Given the description of an element on the screen output the (x, y) to click on. 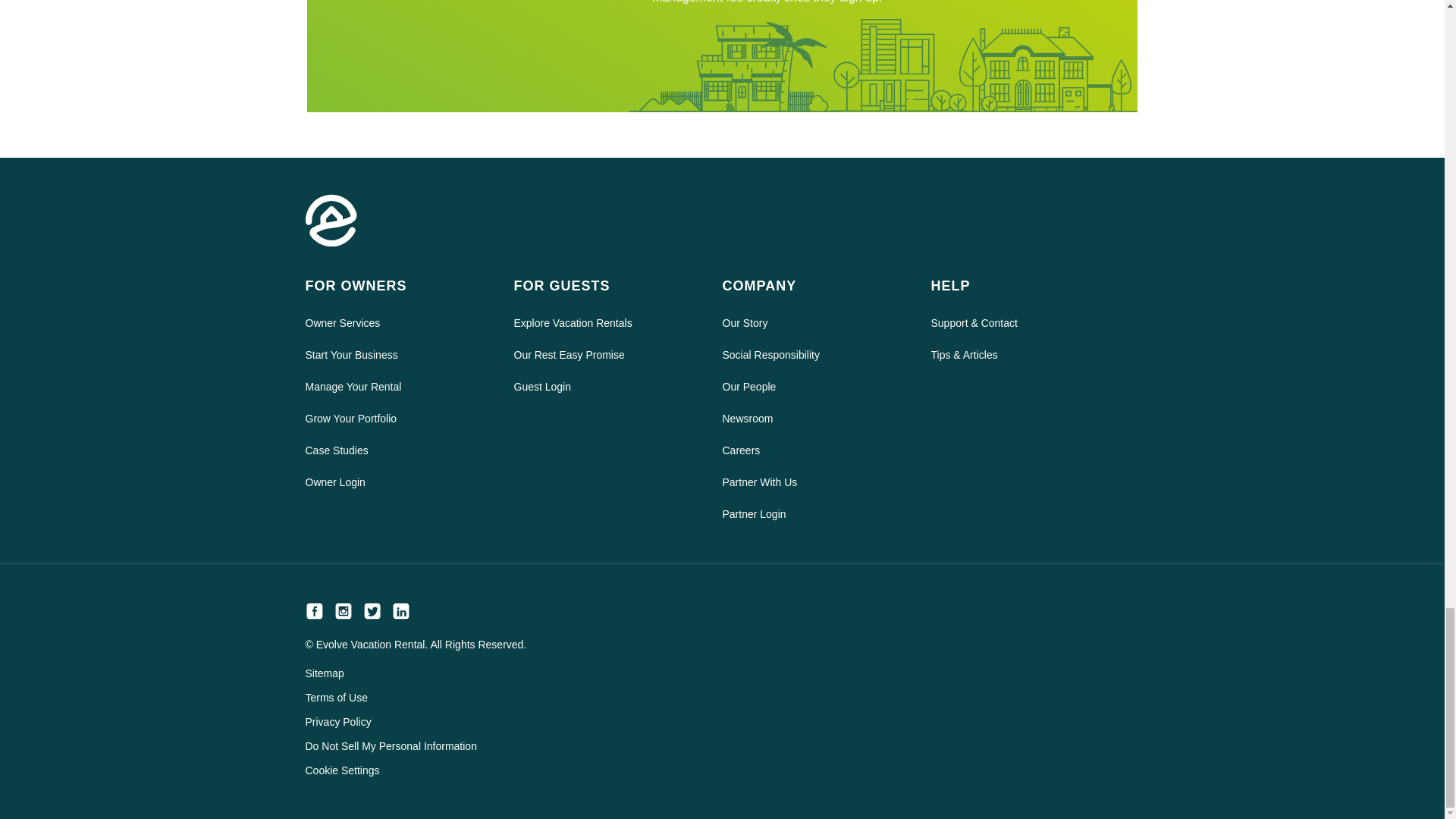
Social Responsibility (814, 354)
Case Studies (397, 450)
Partner With Us (814, 482)
Our Rest Easy Promise (606, 354)
Our Story (814, 322)
Start Your Business (397, 354)
Grow Your Portfolio (397, 418)
Guest Login (606, 386)
Partner Login (814, 514)
Explore Vacation Rentals (606, 322)
Manage Your Rental (397, 386)
Careers (814, 450)
Owner Login (397, 482)
Newsroom (814, 418)
Our People (814, 386)
